Given the description of an element on the screen output the (x, y) to click on. 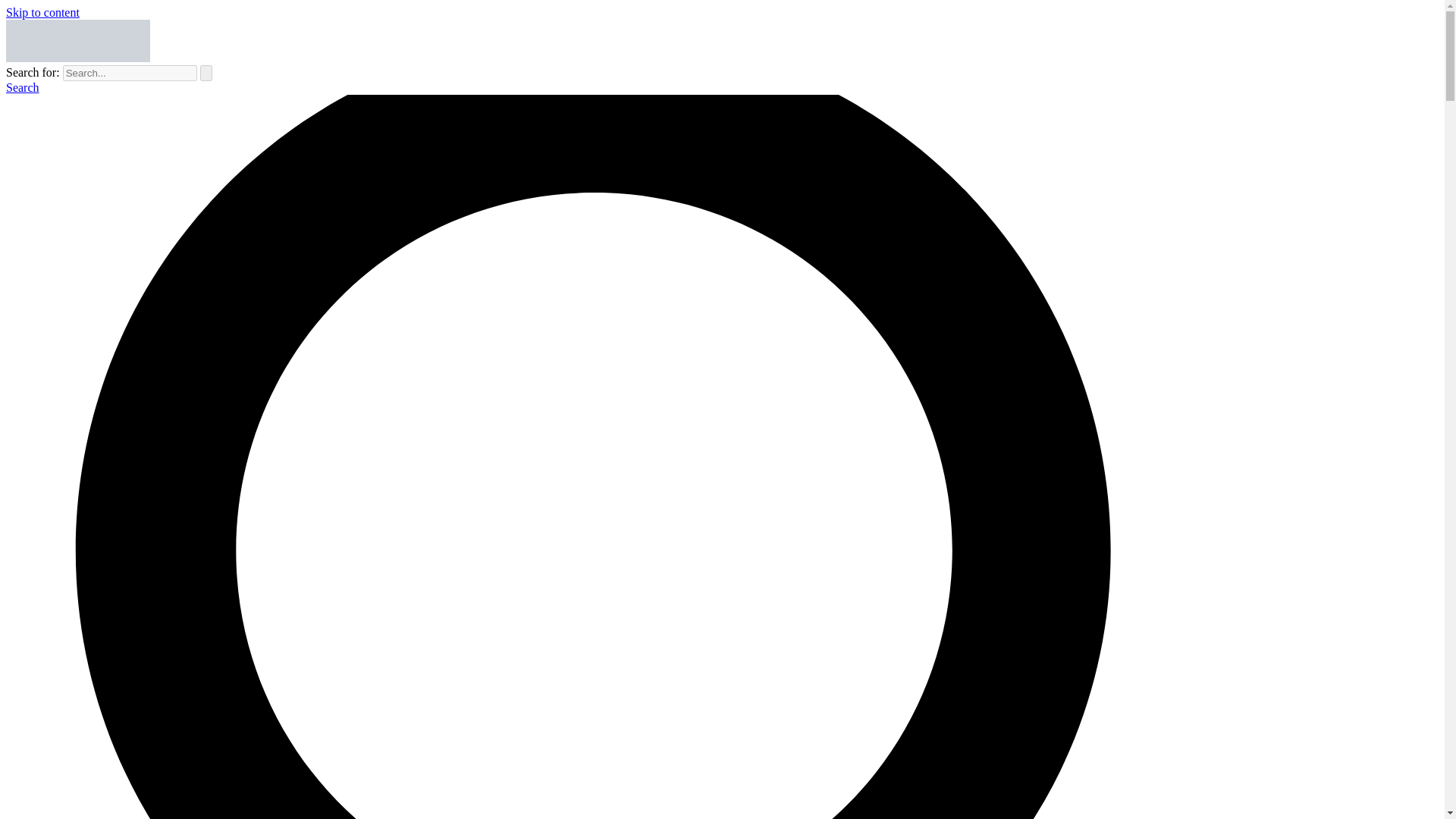
Skip to content (42, 11)
Skip to content (42, 11)
